Given the description of an element on the screen output the (x, y) to click on. 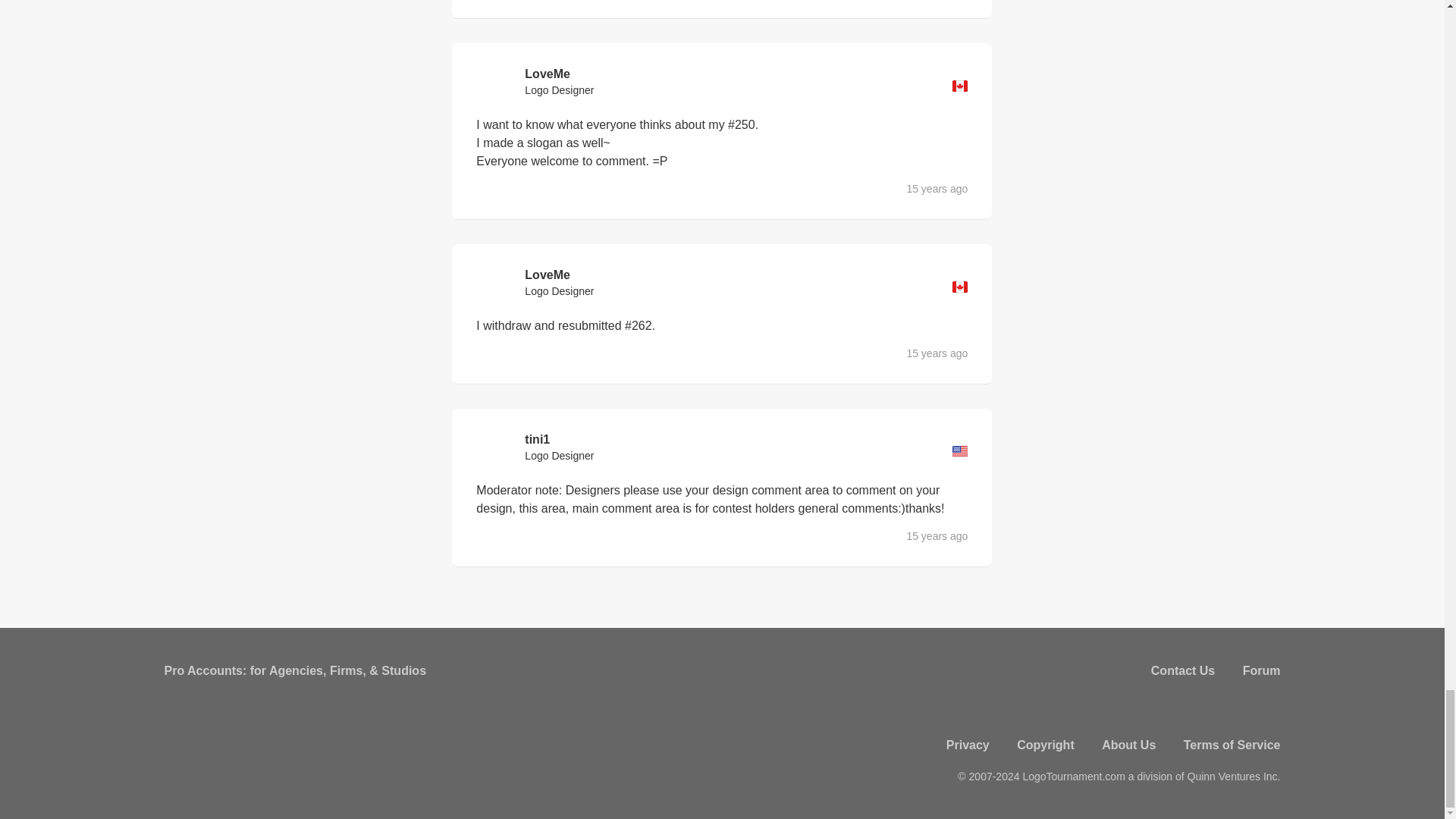
United States (960, 451)
Instagram (1267, 708)
X (1227, 708)
Canada (960, 286)
Facebook (1188, 708)
Canada (960, 85)
